Given the description of an element on the screen output the (x, y) to click on. 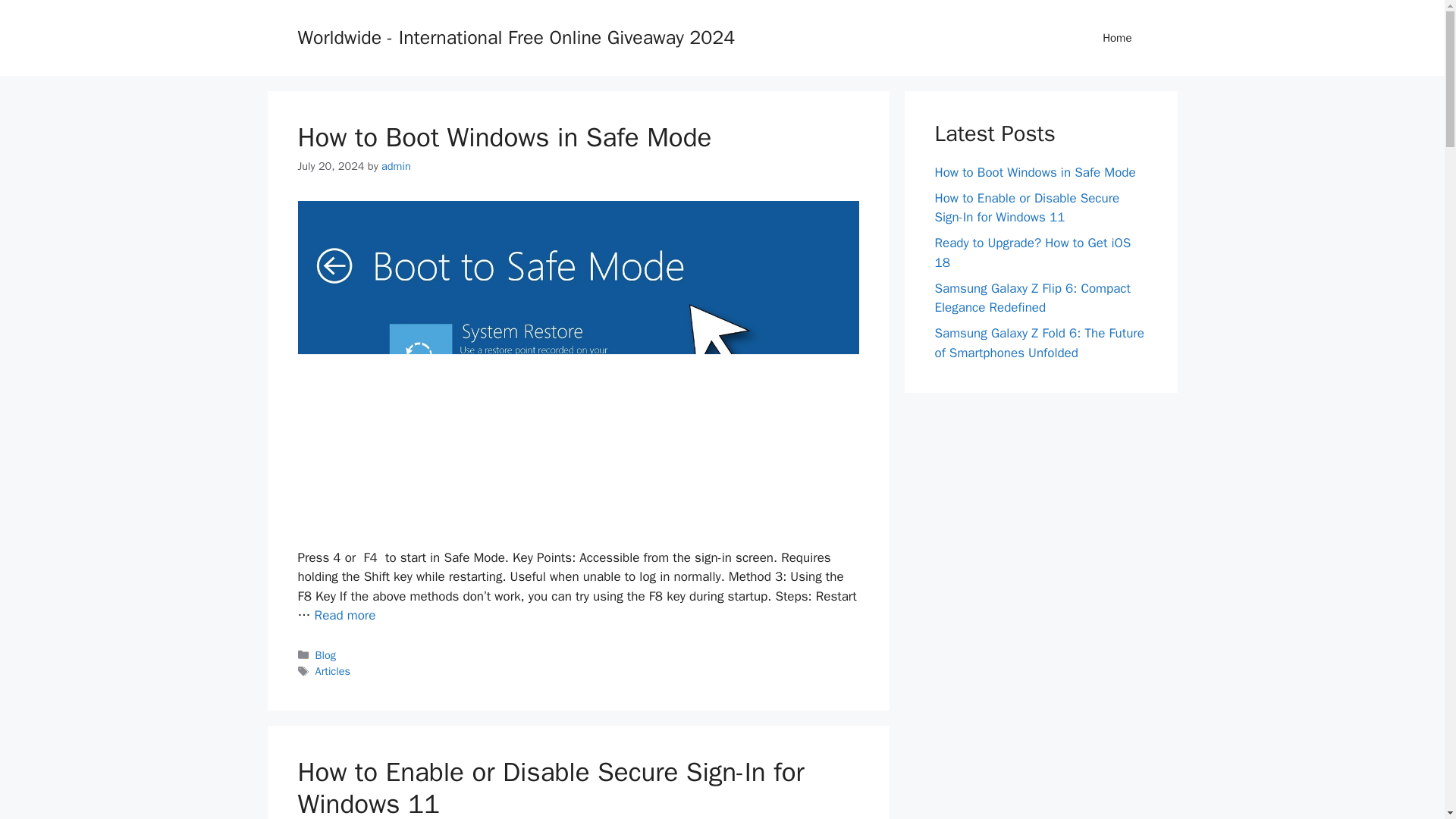
How to Enable or Disable Secure Sign-In for Windows 11 (550, 787)
Home (1117, 37)
Worldwide - International Free Online Giveaway 2024 (516, 37)
admin (395, 165)
How to Boot Windows in Safe Mode (344, 615)
Articles (332, 671)
Blog (325, 654)
How to Boot Windows in Safe Mode (504, 136)
Read more (344, 615)
View all posts by admin (395, 165)
